Given the description of an element on the screen output the (x, y) to click on. 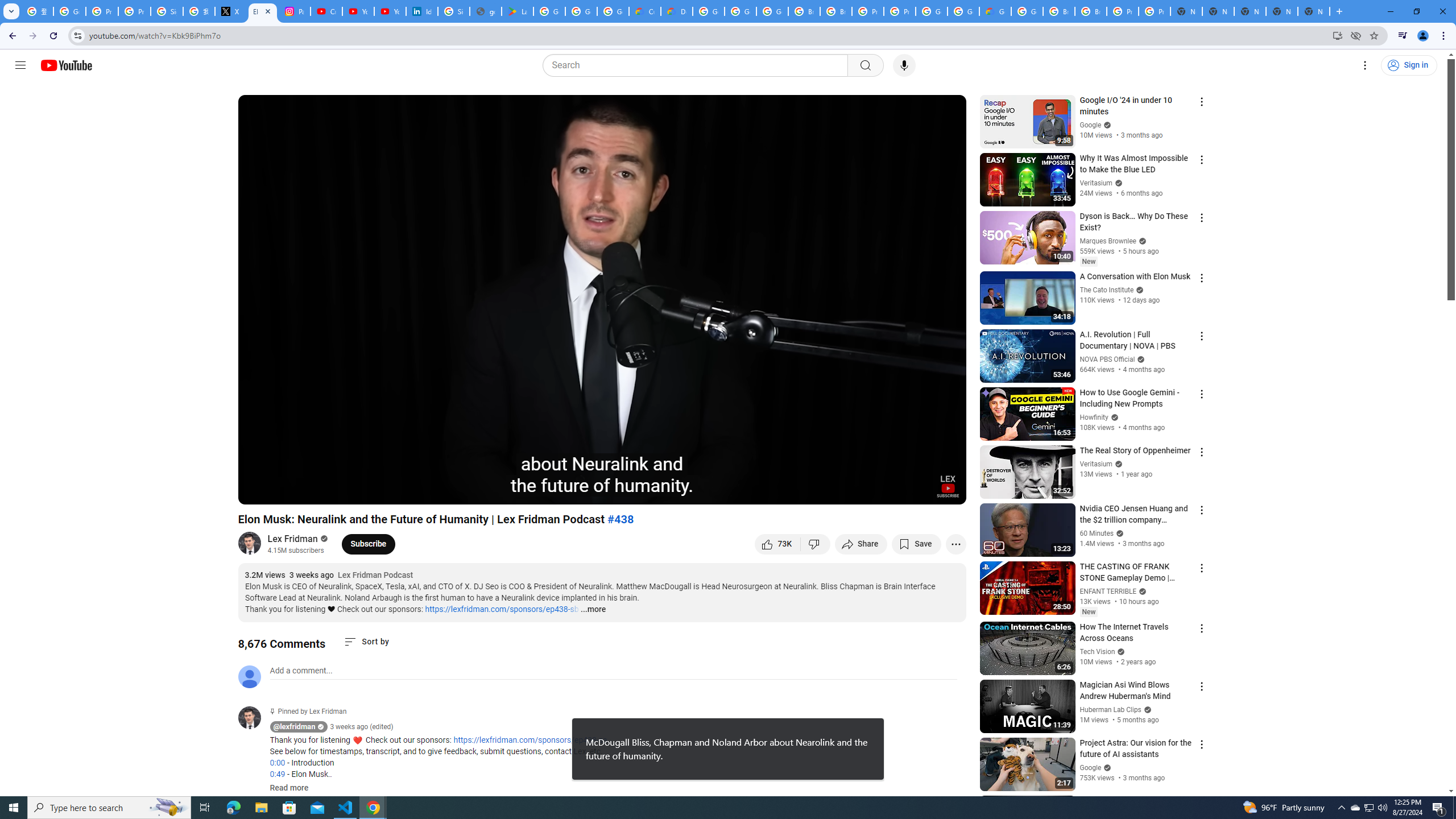
Next (SHIFT+n) (284, 490)
Google Cloud Platform (963, 11)
AutomationID: simplebox-placeholder (301, 670)
More actions (955, 543)
Seek slider (601, 476)
Miniplayer (i) (890, 490)
Subscribe to Lex Fridman. (368, 543)
